Given the description of an element on the screen output the (x, y) to click on. 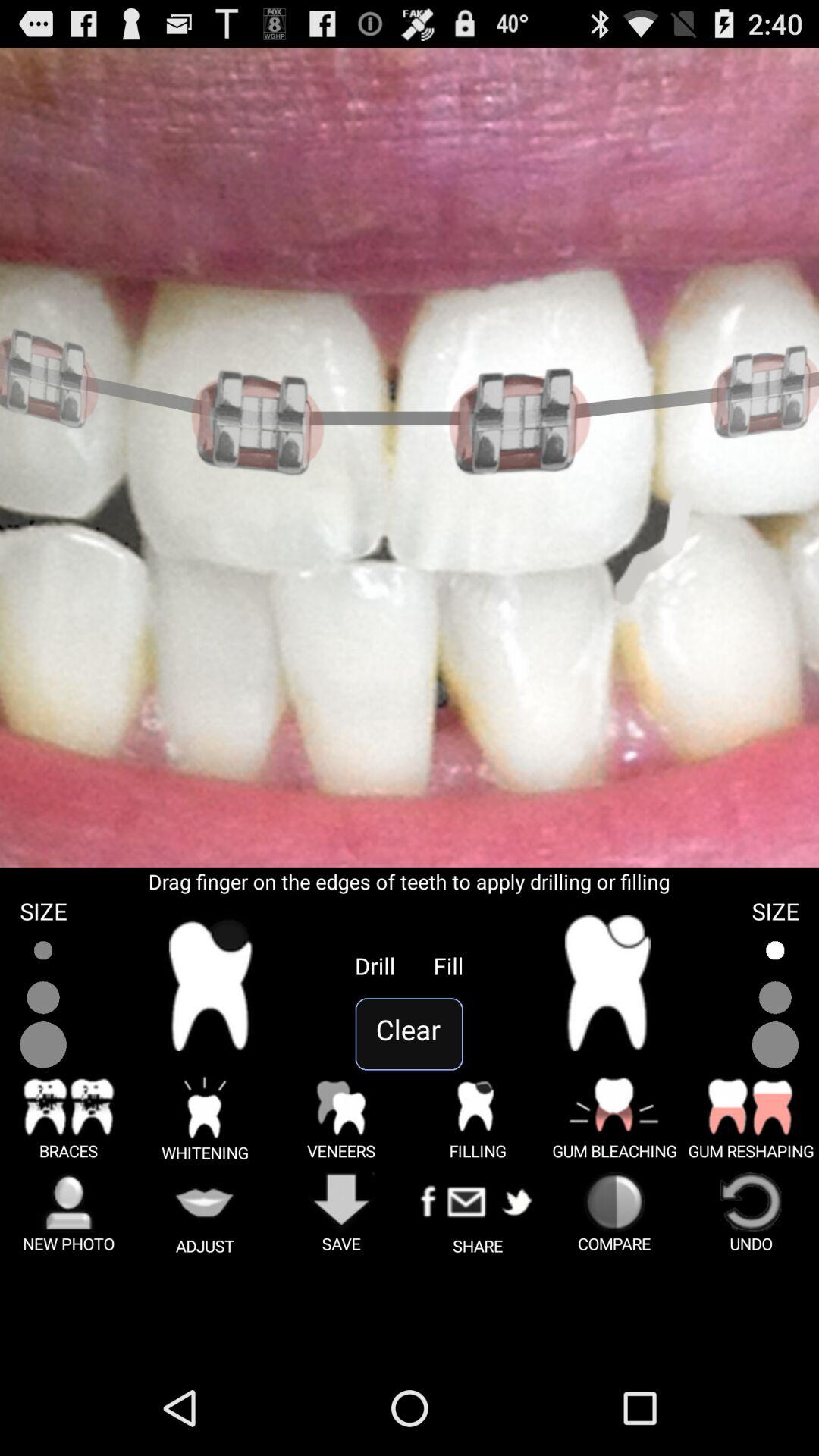
size toggle option (775, 998)
